Given the description of an element on the screen output the (x, y) to click on. 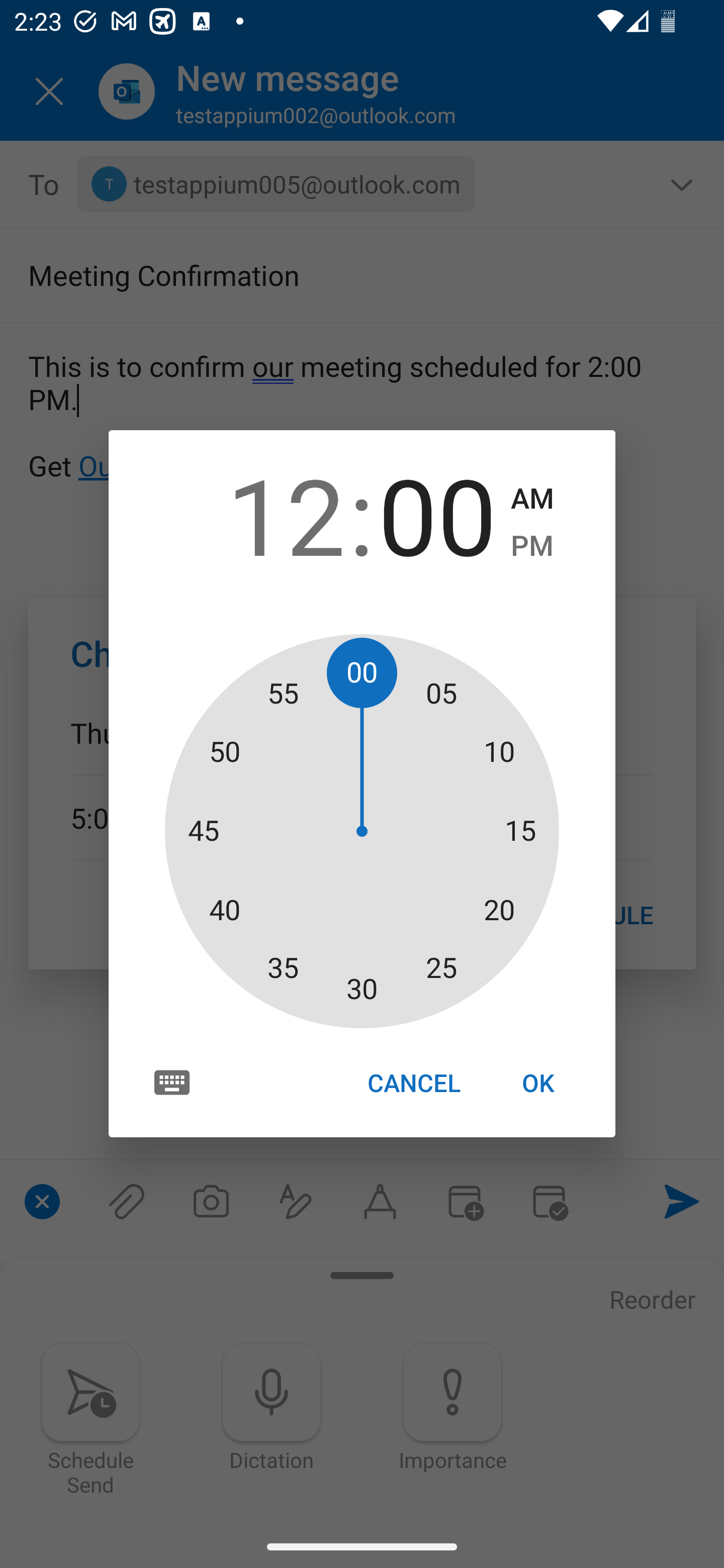
12 (285, 513)
00 (436, 513)
AM (532, 498)
PM (532, 546)
CANCEL (413, 1082)
OK (537, 1082)
Switch to text input mode for the time input. (171, 1081)
